Given the description of an element on the screen output the (x, y) to click on. 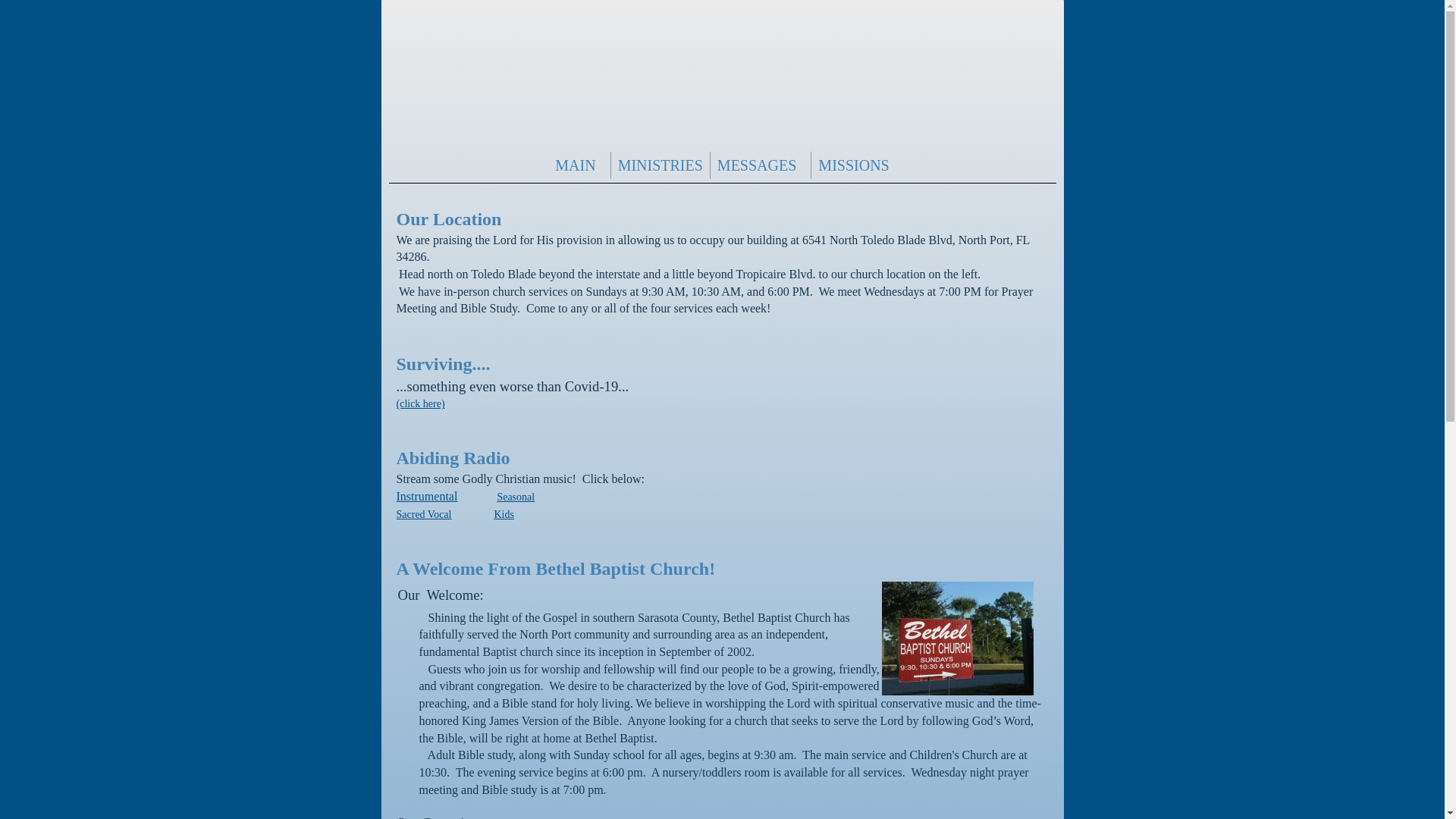
MISSIONS (853, 165)
Music from Abiding Radio (423, 514)
MINISTRIES (660, 165)
Seasonal (515, 496)
Music from Abiding Radio (426, 495)
MAIN (578, 165)
MESSAGES (760, 165)
Music from Abiding Radio (503, 514)
Kids (503, 514)
Music from Abiding Radio (515, 496)
